Given the description of an element on the screen output the (x, y) to click on. 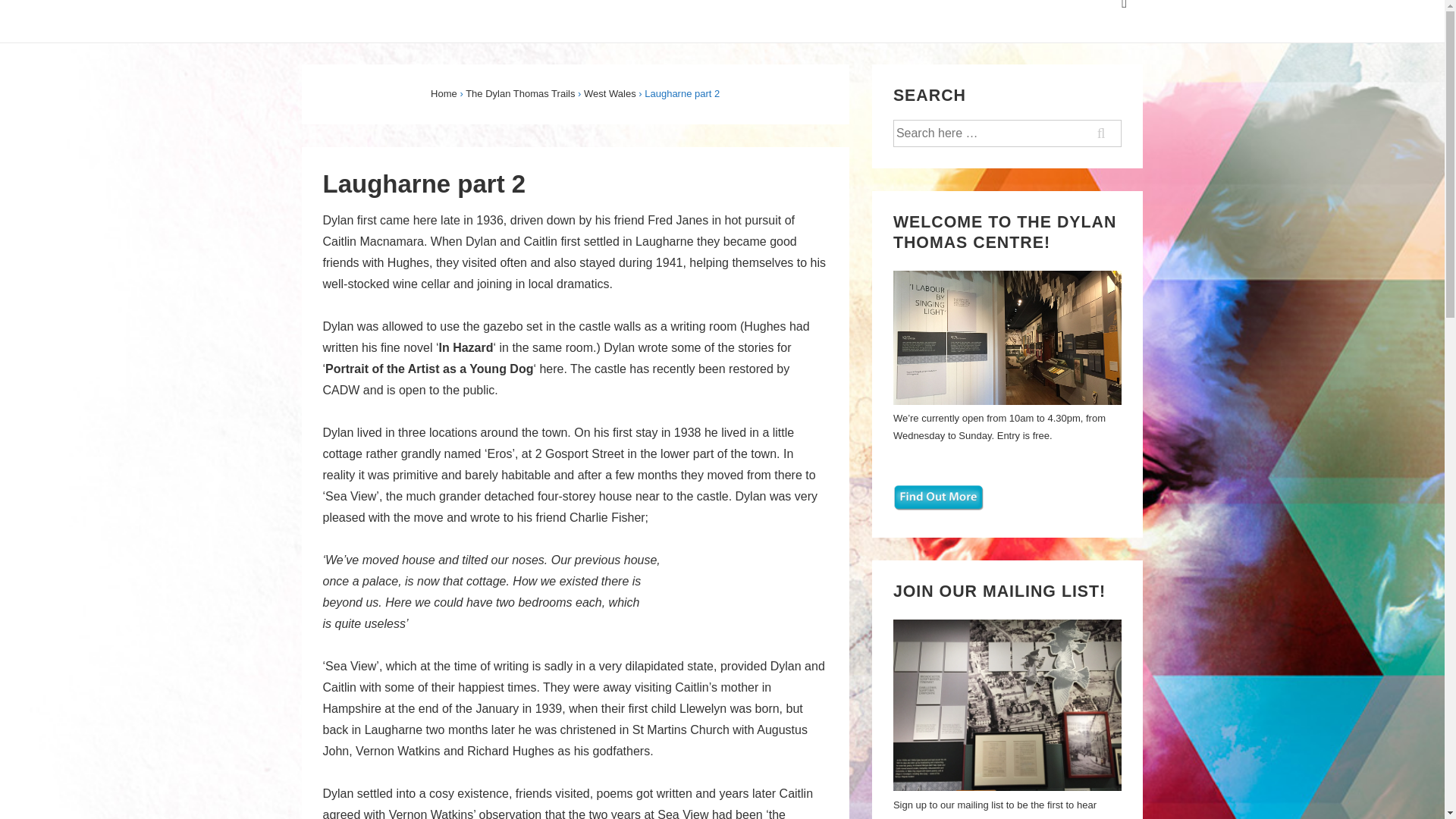
Home (443, 93)
